Given the description of an element on the screen output the (x, y) to click on. 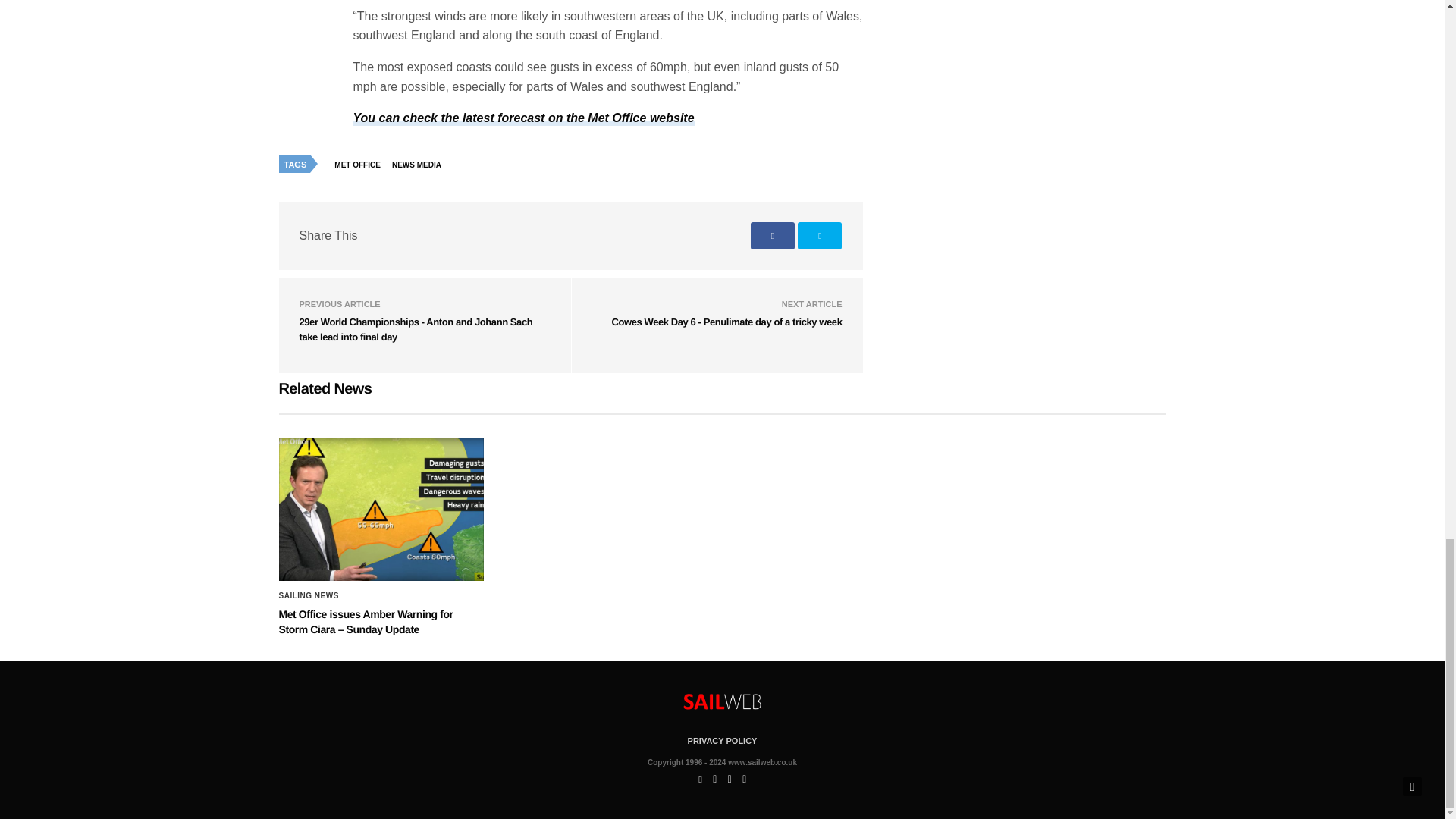
You can check the latest forecast on the Met Office website (523, 118)
MET OFFICE (360, 164)
Cowes Week Day 6 - Penulimate day of a tricky week (727, 321)
Sailing News (309, 595)
